Given the description of an element on the screen output the (x, y) to click on. 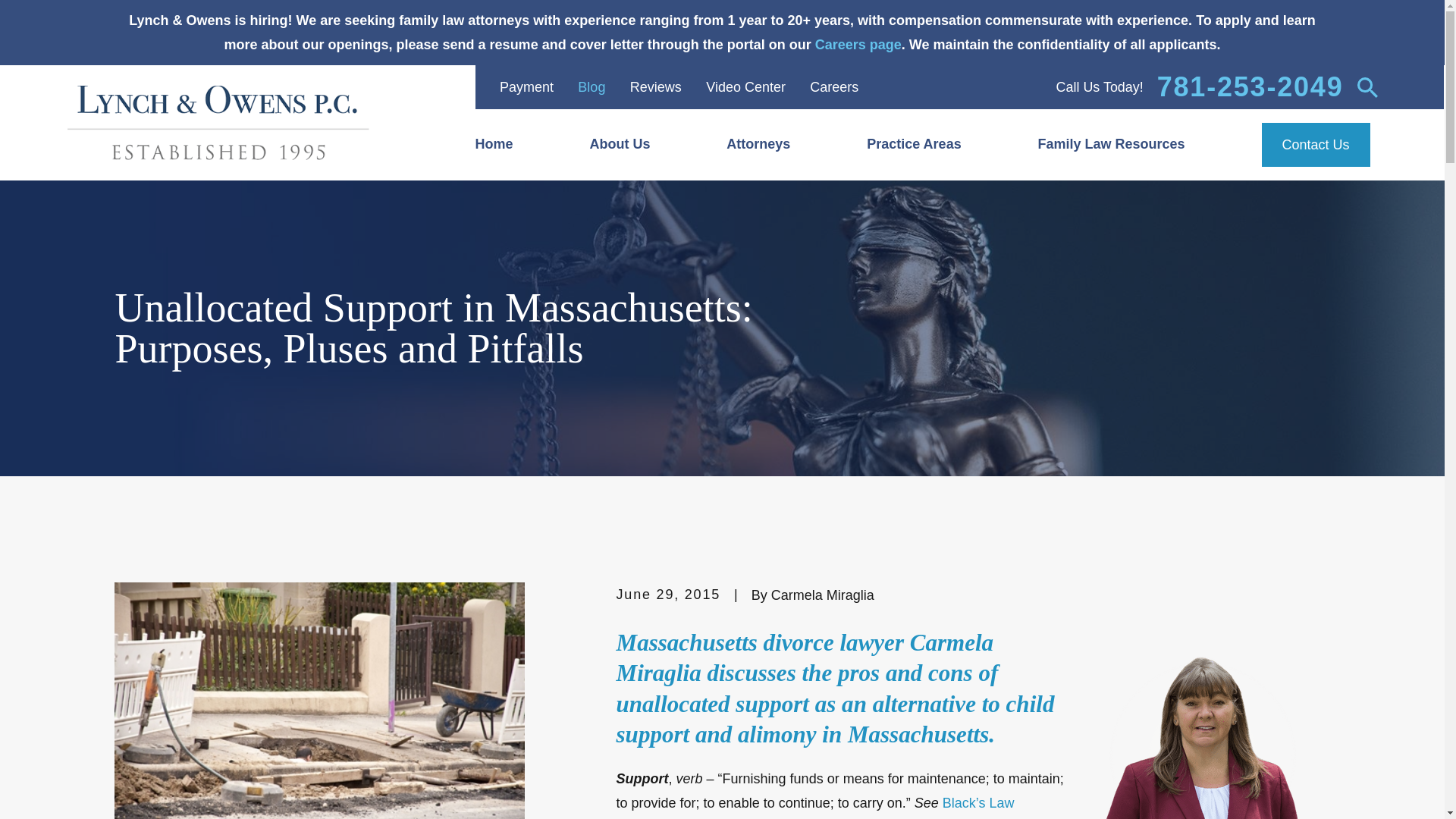
Attorneys (777, 144)
Careers page (858, 44)
Video Center (746, 87)
Payment (526, 87)
781-253-2049 (1250, 86)
Home (513, 144)
About Us (638, 144)
Family Law Resources (1131, 144)
Practice Areas (932, 144)
Careers (834, 87)
